Given the description of an element on the screen output the (x, y) to click on. 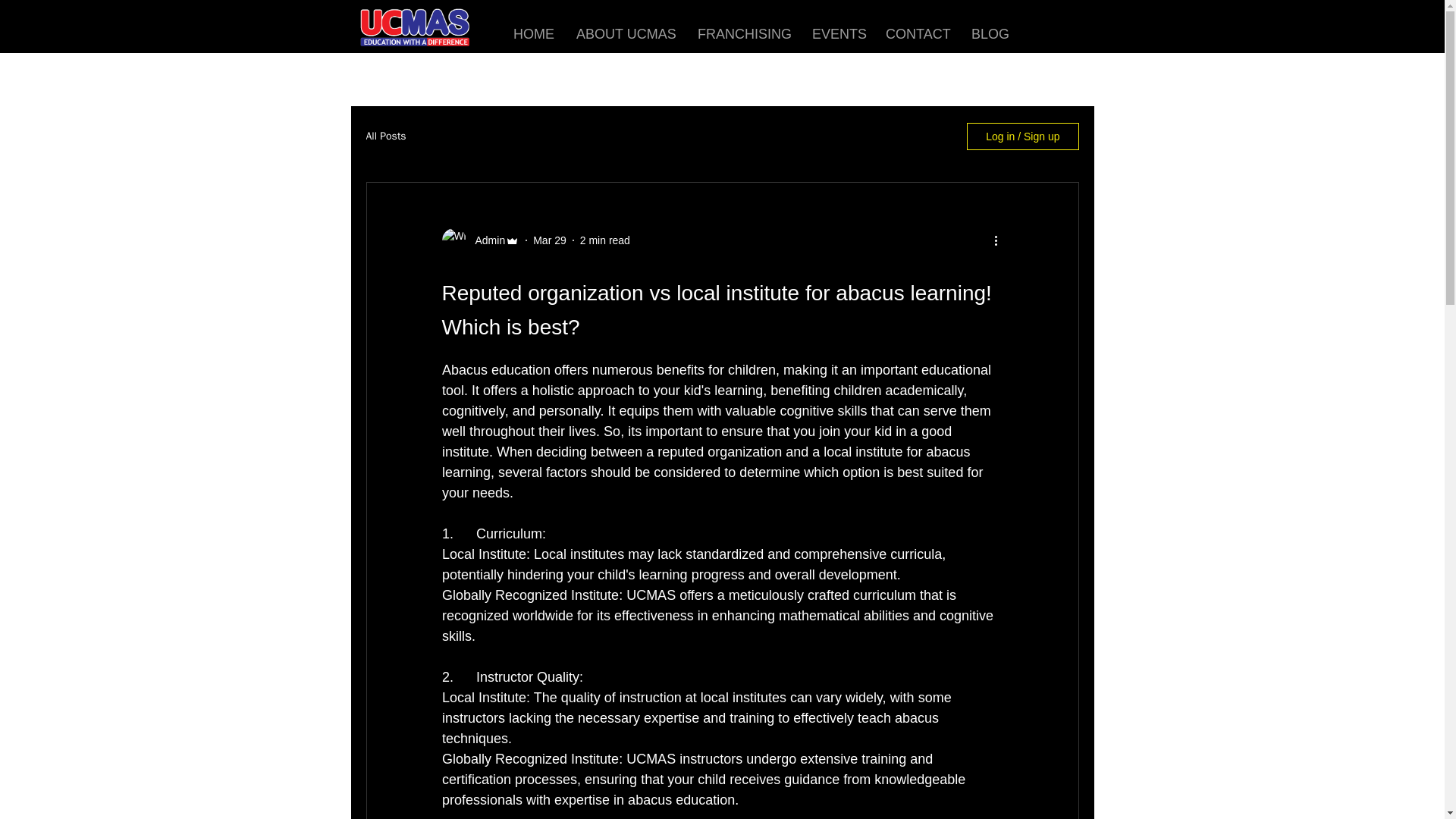
All Posts (385, 136)
2 min read (604, 239)
FRANCHISING (742, 33)
Mar 29 (549, 239)
BLOG (989, 33)
EVENTS (837, 33)
CONTACT (917, 33)
Admin (485, 239)
HOME (533, 33)
ABOUT UCMAS (624, 33)
